Given the description of an element on the screen output the (x, y) to click on. 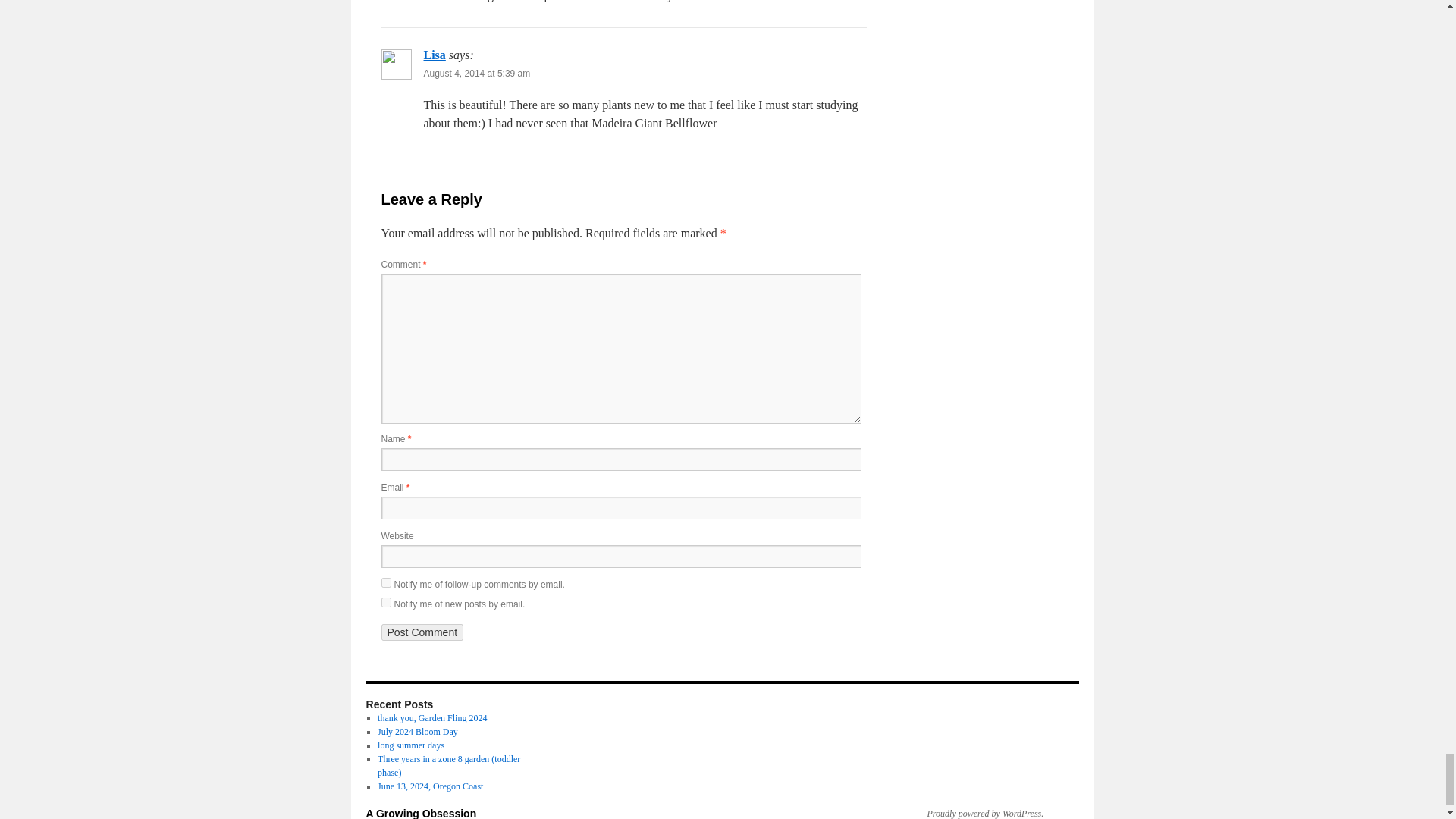
subscribe (385, 583)
subscribe (385, 602)
Post Comment (421, 632)
